Given the description of an element on the screen output the (x, y) to click on. 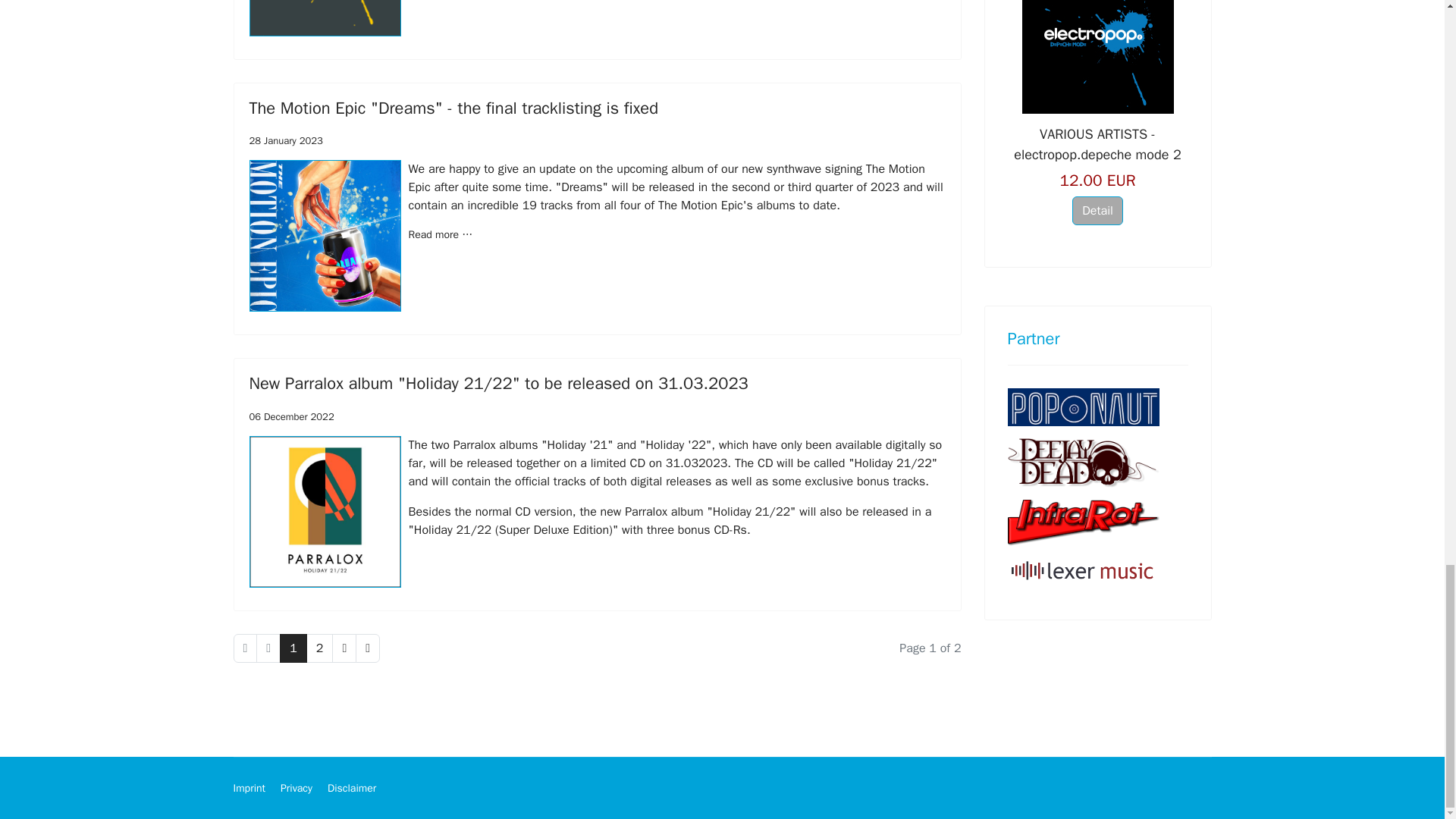
Published: 28 January 2023 (284, 140)
2 (319, 647)
Published: 06 December 2022 (290, 417)
The Motion Epic "Dreams" - the final tracklisting is fixed (453, 107)
